Given the description of an element on the screen output the (x, y) to click on. 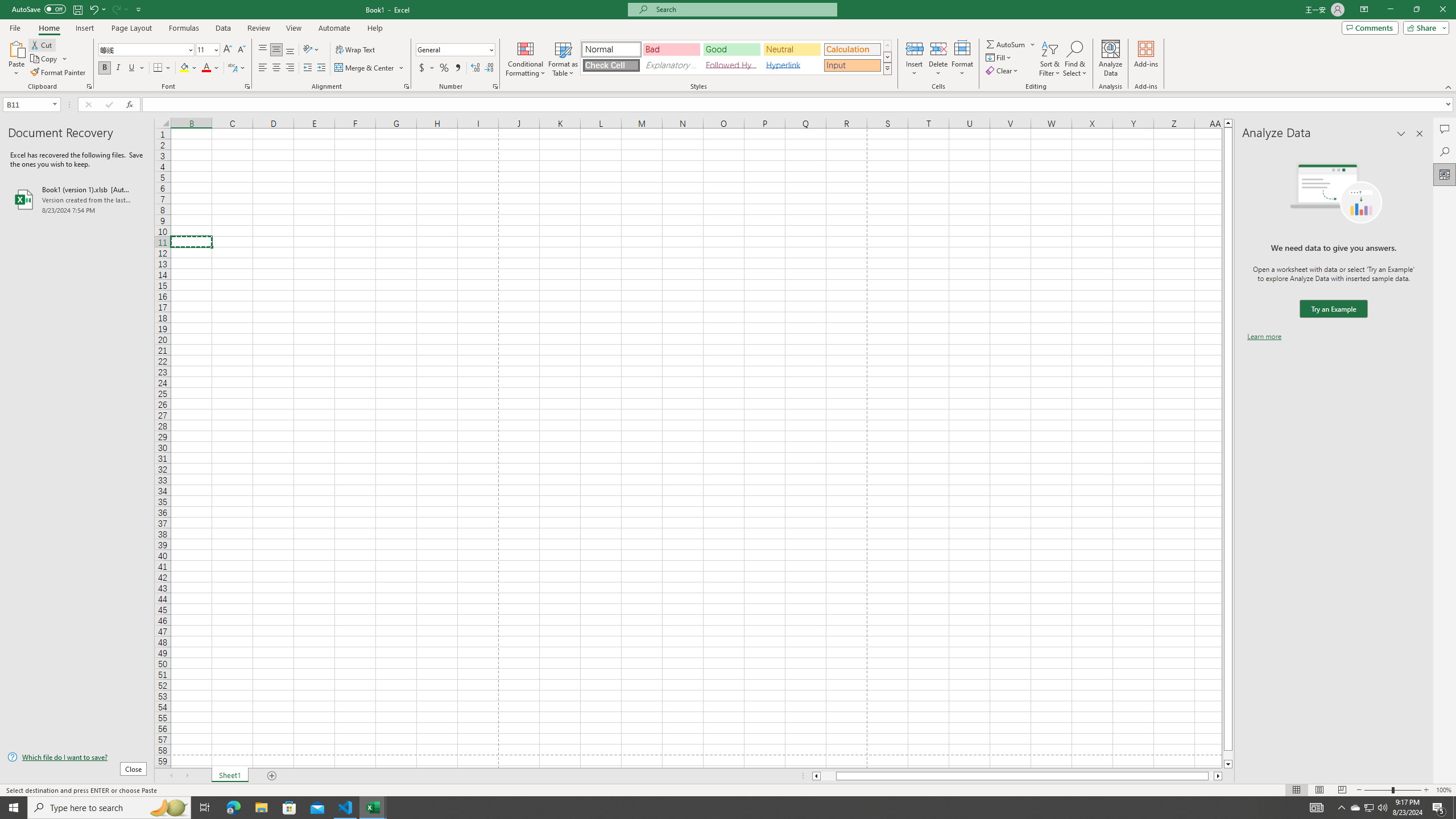
Number Format (451, 49)
Merge & Center (365, 67)
Followed Hyperlink (731, 65)
Bottom Align (290, 49)
Paste (16, 48)
Format Cell Alignment (405, 85)
AutomationID: CellStylesGallery (736, 57)
